Given the description of an element on the screen output the (x, y) to click on. 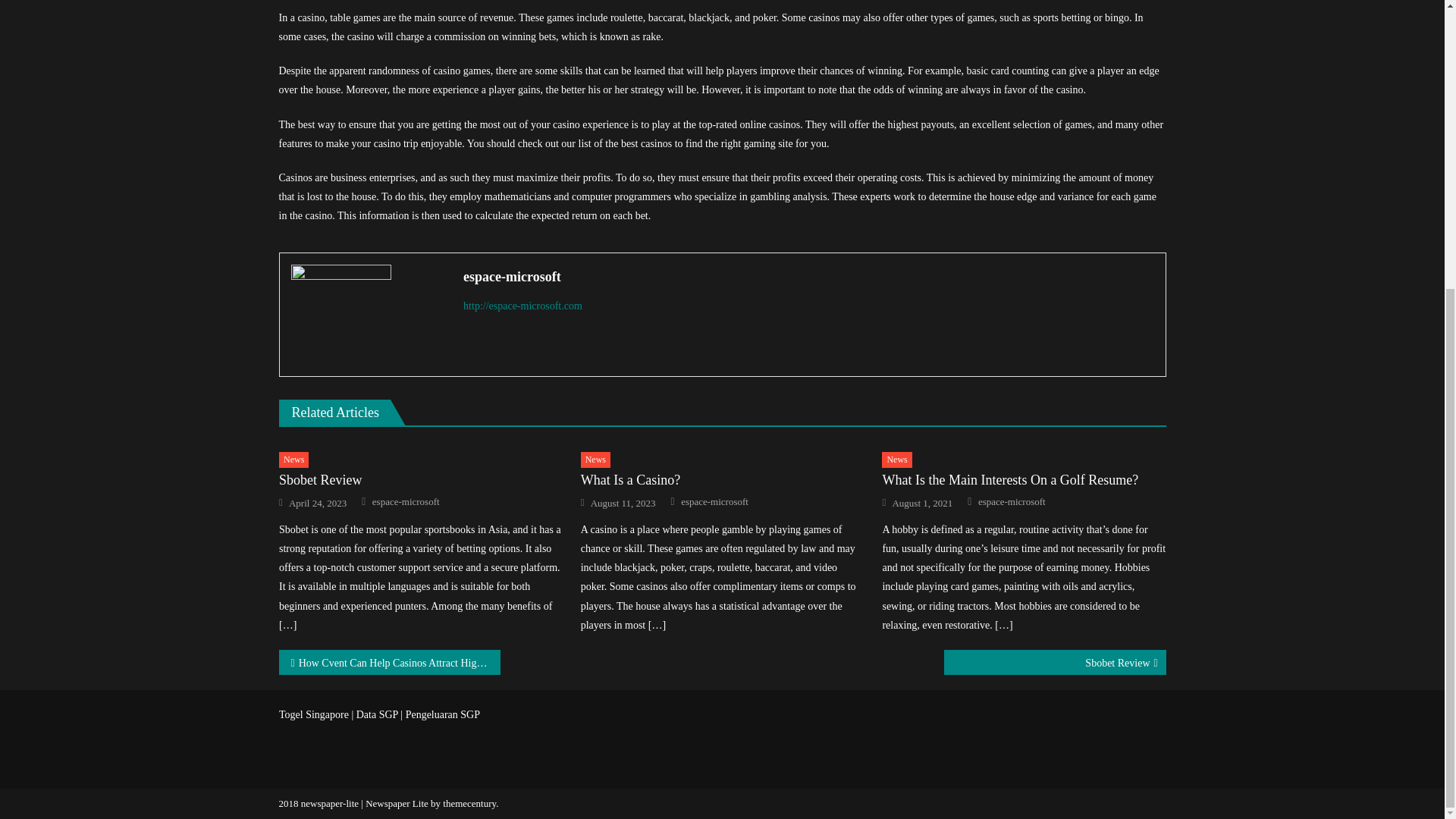
espace-microsoft (1011, 501)
What Is the Main Interests On a Golf Resume? (1024, 479)
How Cvent Can Help Casinos Attract High Rollers (389, 662)
espace-microsoft (405, 501)
Pengeluaran SGP (443, 714)
What Is a Casino? (722, 479)
News (595, 460)
April 24, 2023 (317, 503)
Data SGP (376, 714)
espace-microsoft (808, 276)
espace-microsoft (714, 501)
Sbobet Review (1054, 662)
News (896, 460)
Togel Singapore (314, 714)
News (293, 460)
